Given the description of an element on the screen output the (x, y) to click on. 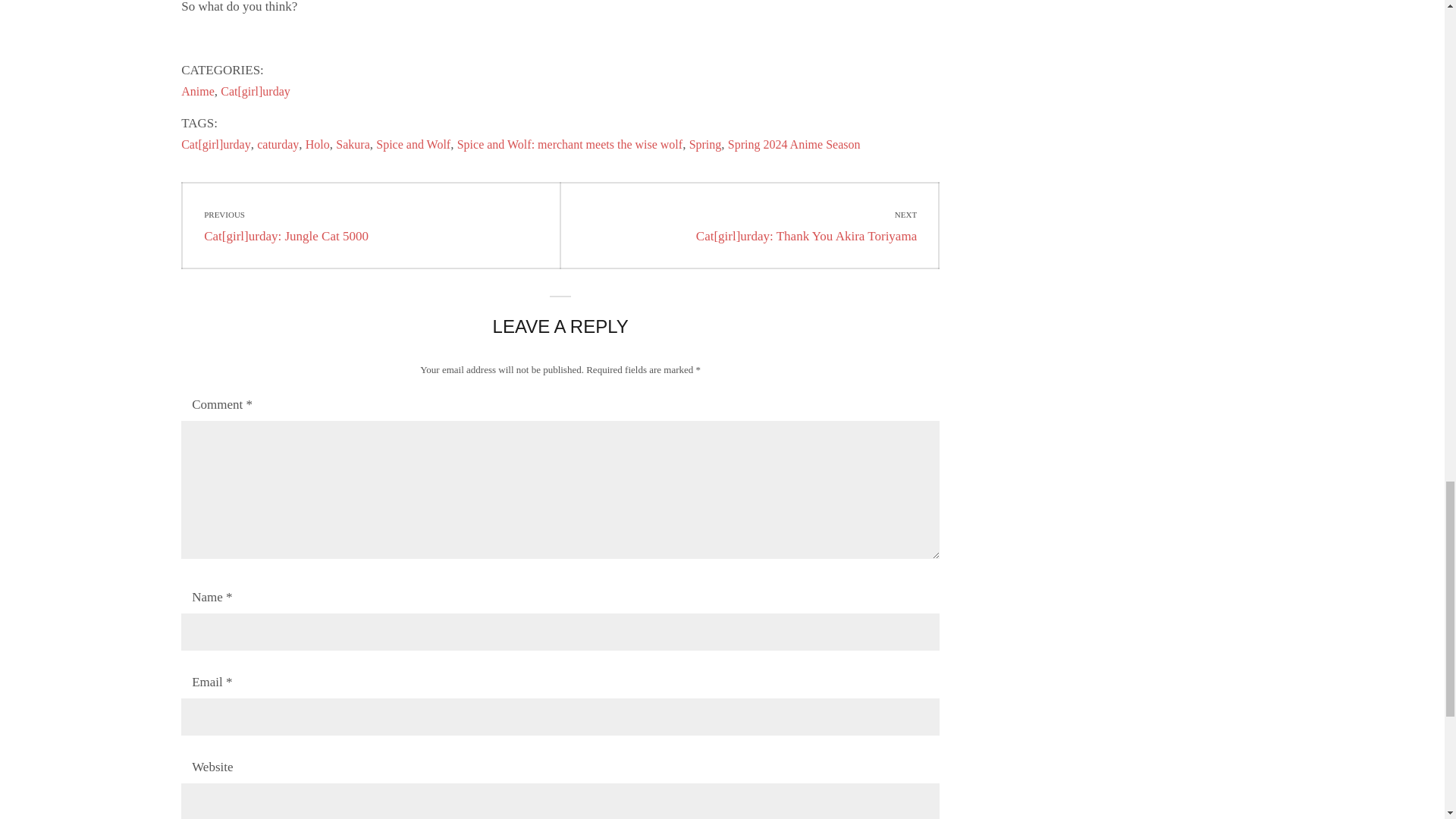
Anime (197, 91)
Sakura (352, 144)
Spring (705, 144)
Spring 2024 Anime Season (794, 144)
caturday (277, 144)
Holo (317, 144)
Spice and Wolf: merchant meets the wise wolf (569, 144)
Spice and Wolf (412, 144)
